Given the description of an element on the screen output the (x, y) to click on. 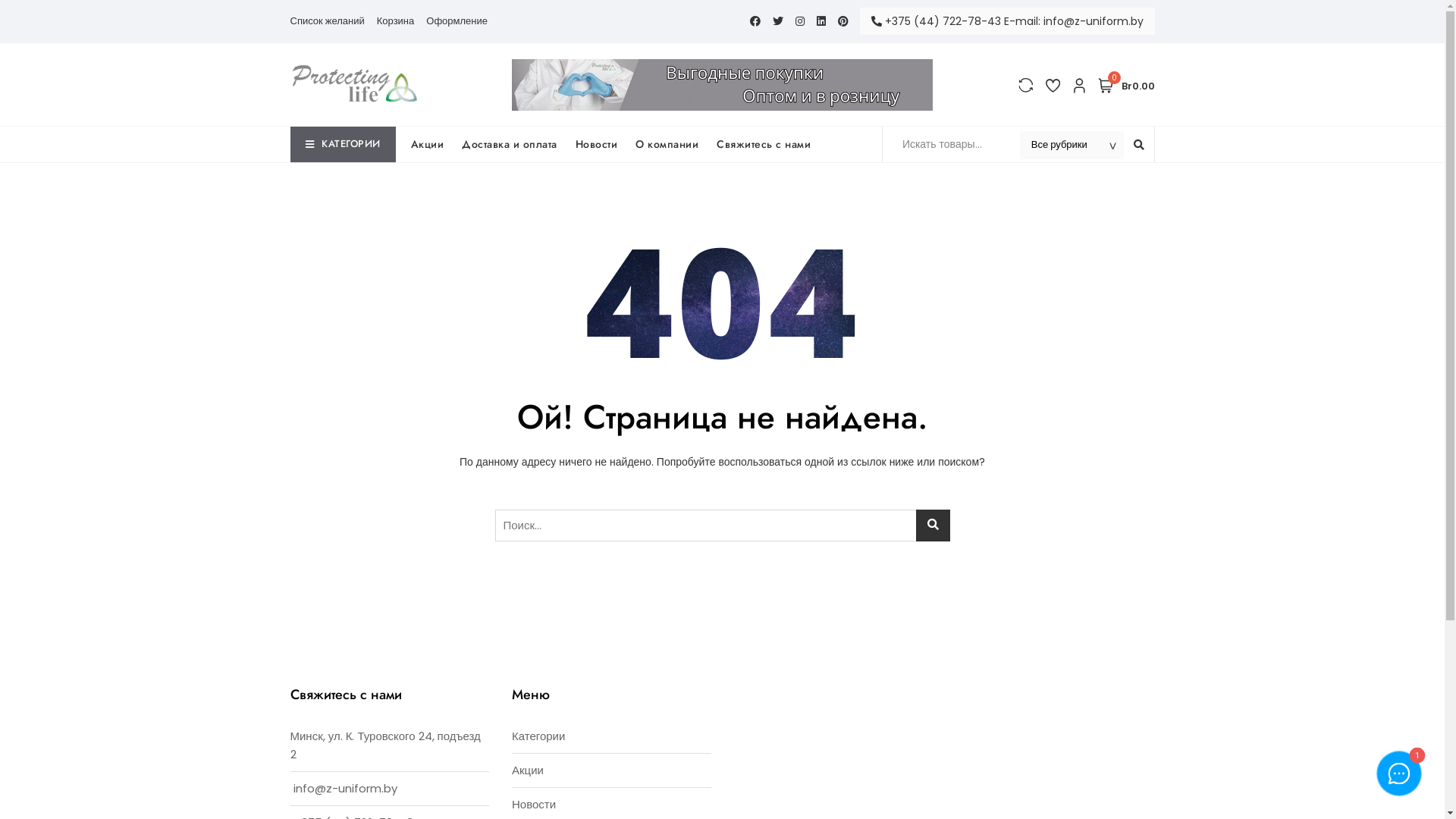
+375 (44) 722-78-43 E-mail: info@z-uniform.by Element type: text (1006, 20)
0
Br0.00 Element type: text (1126, 84)
info@z-uniform.by Element type: text (344, 788)
